Given the description of an element on the screen output the (x, y) to click on. 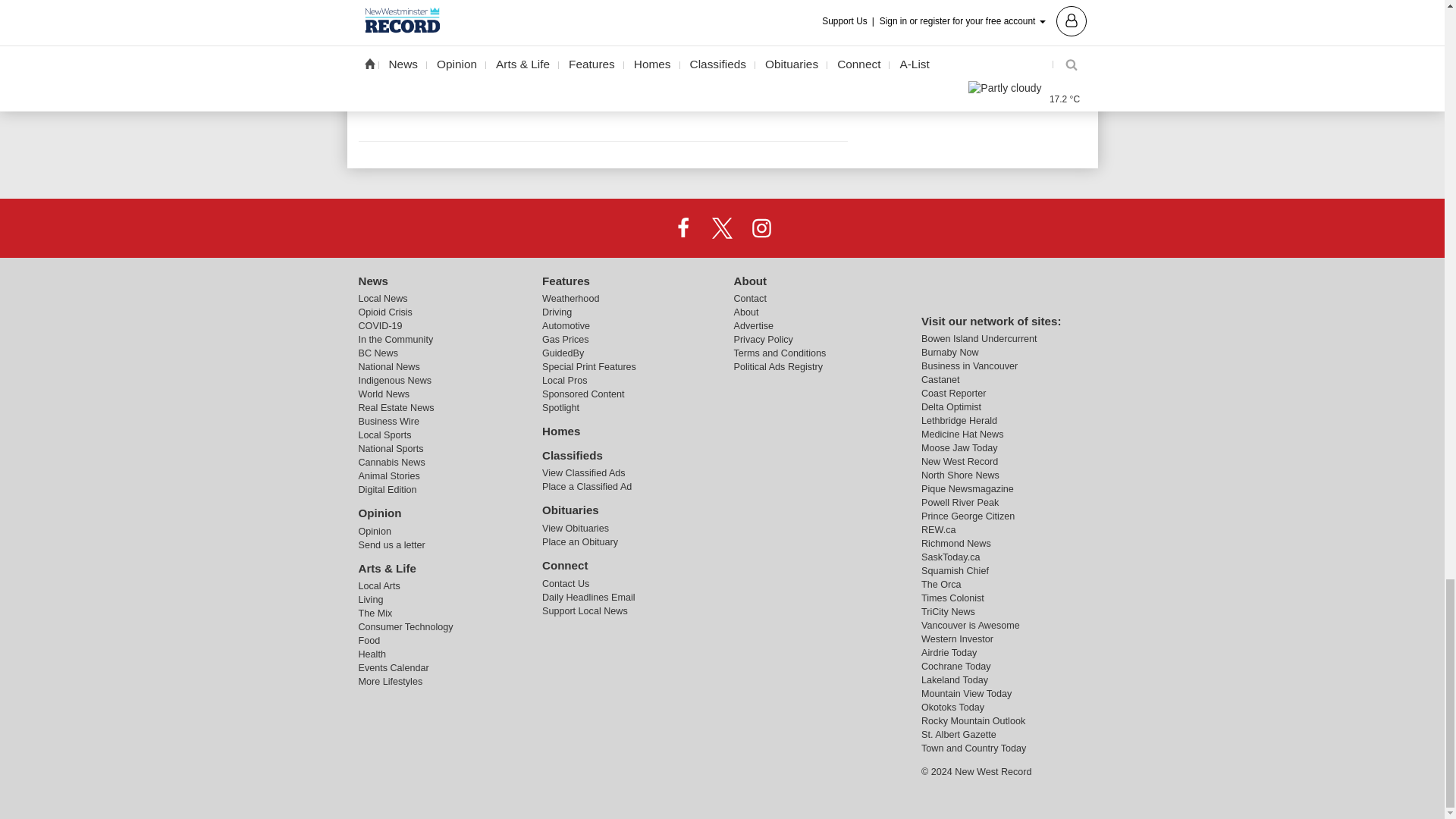
Instagram (760, 226)
Facebook (683, 226)
X (721, 226)
